Given the description of an element on the screen output the (x, y) to click on. 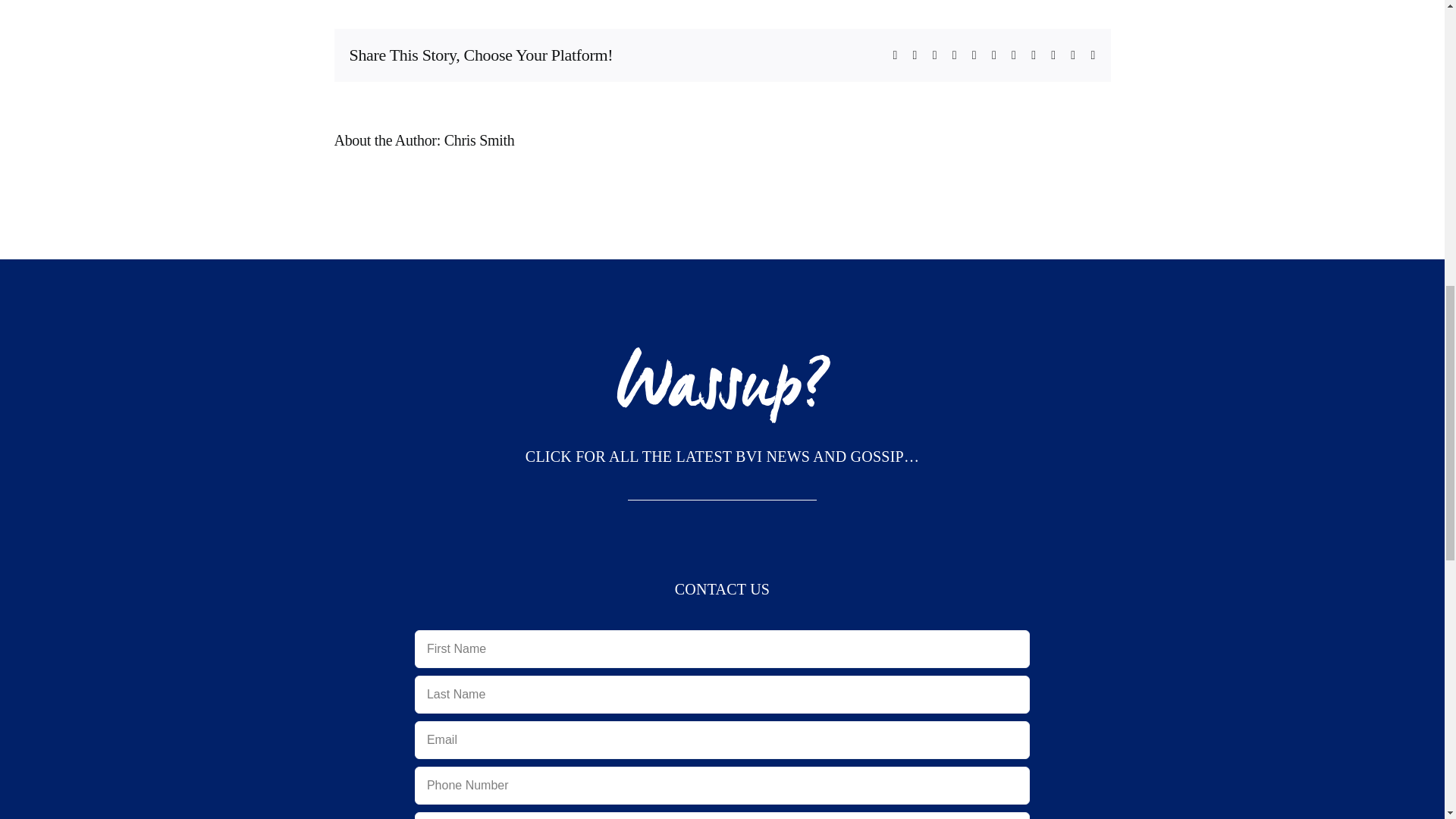
Page 1 (721, 456)
Posts by Chris Smith (479, 139)
